Given the description of an element on the screen output the (x, y) to click on. 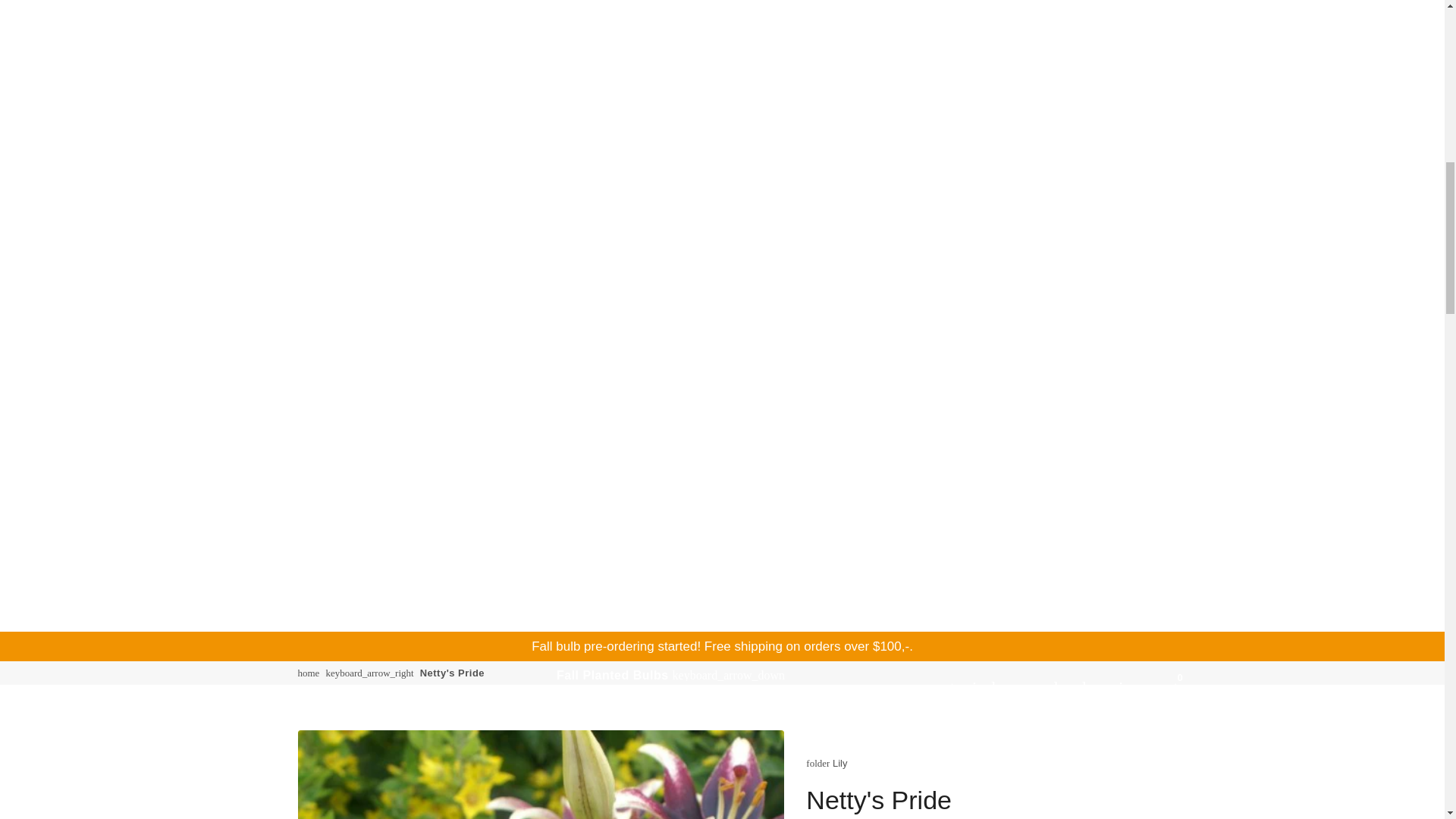
Cart (1126, 686)
Search (1039, 686)
Log In (950, 686)
Dutchflowerbulbs.com (307, 672)
